Given the description of an element on the screen output the (x, y) to click on. 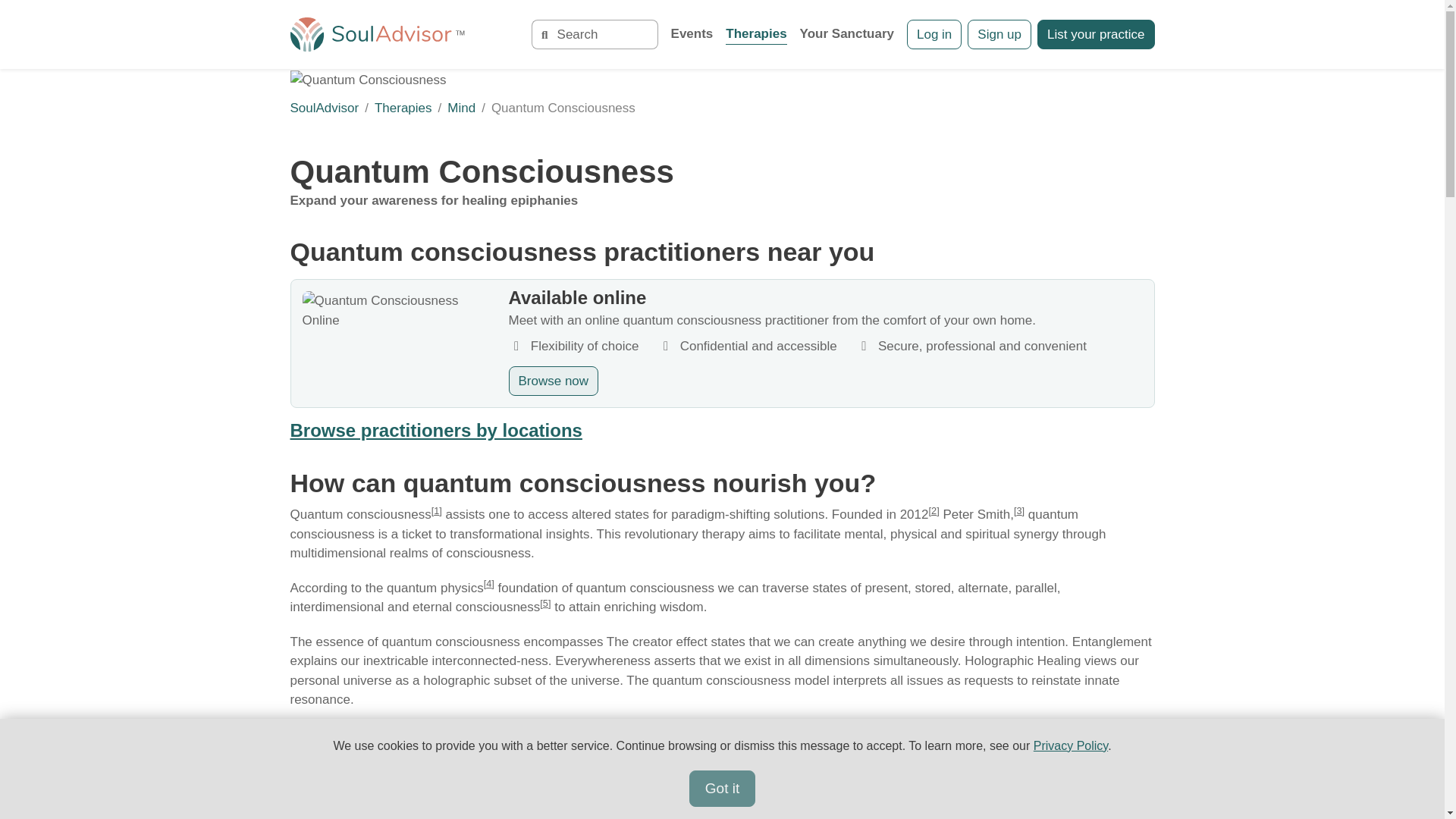
Your Sanctuary (846, 34)
List your practice (1095, 34)
Sign up (999, 34)
Therapies (755, 34)
Browse now (553, 381)
Browse practitioners by locations (434, 430)
10 (915, 749)
Therapies (403, 107)
Log in (933, 34)
hypnotherapy (905, 734)
